Given the description of an element on the screen output the (x, y) to click on. 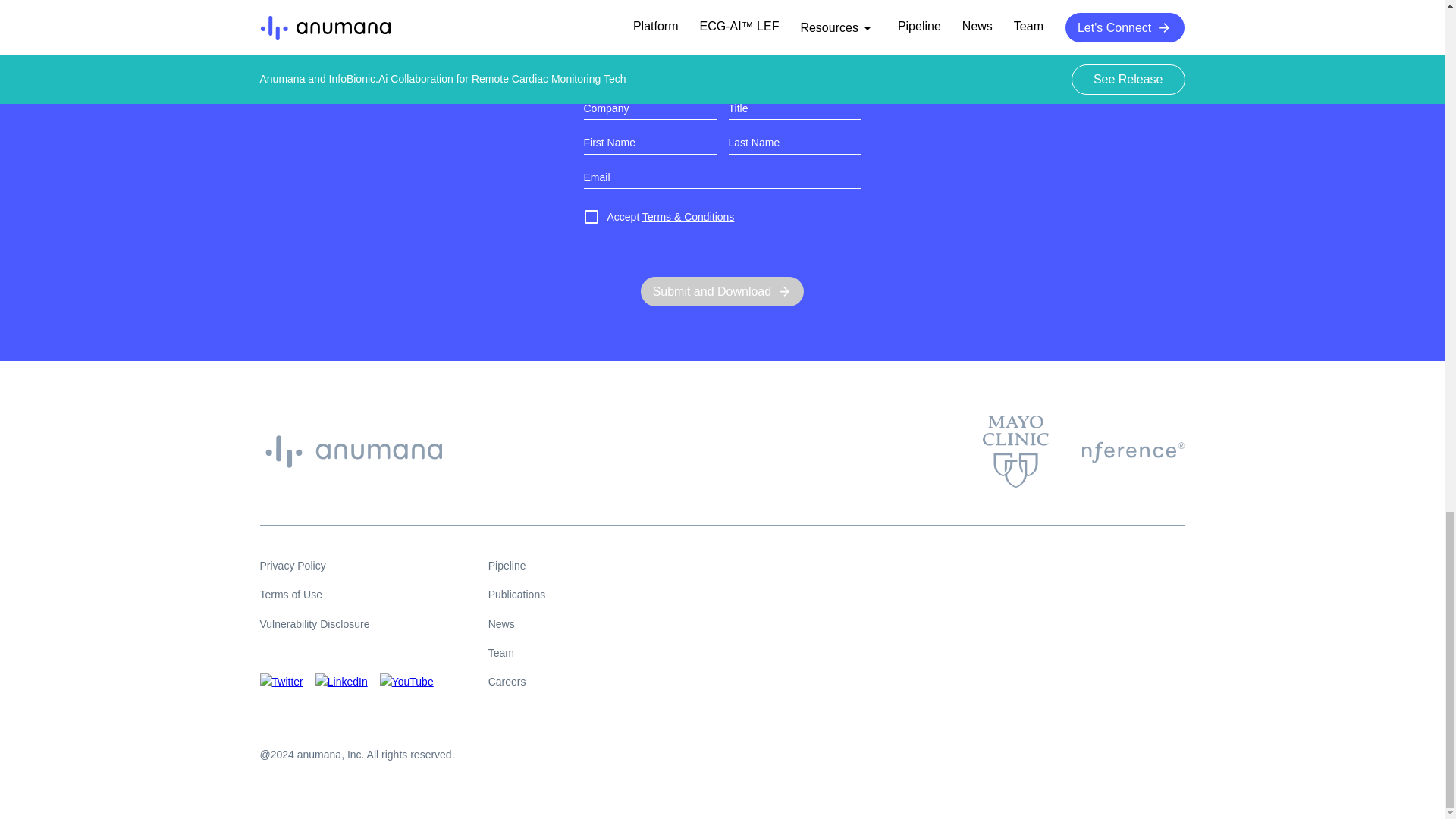
Terms of Use (345, 594)
Publications (516, 594)
Pipeline (516, 565)
Careers (516, 681)
Team (516, 652)
News (516, 623)
Privacy Policy (345, 565)
Vulnerability Disclosure (345, 623)
Submit and Download (722, 291)
